Given the description of an element on the screen output the (x, y) to click on. 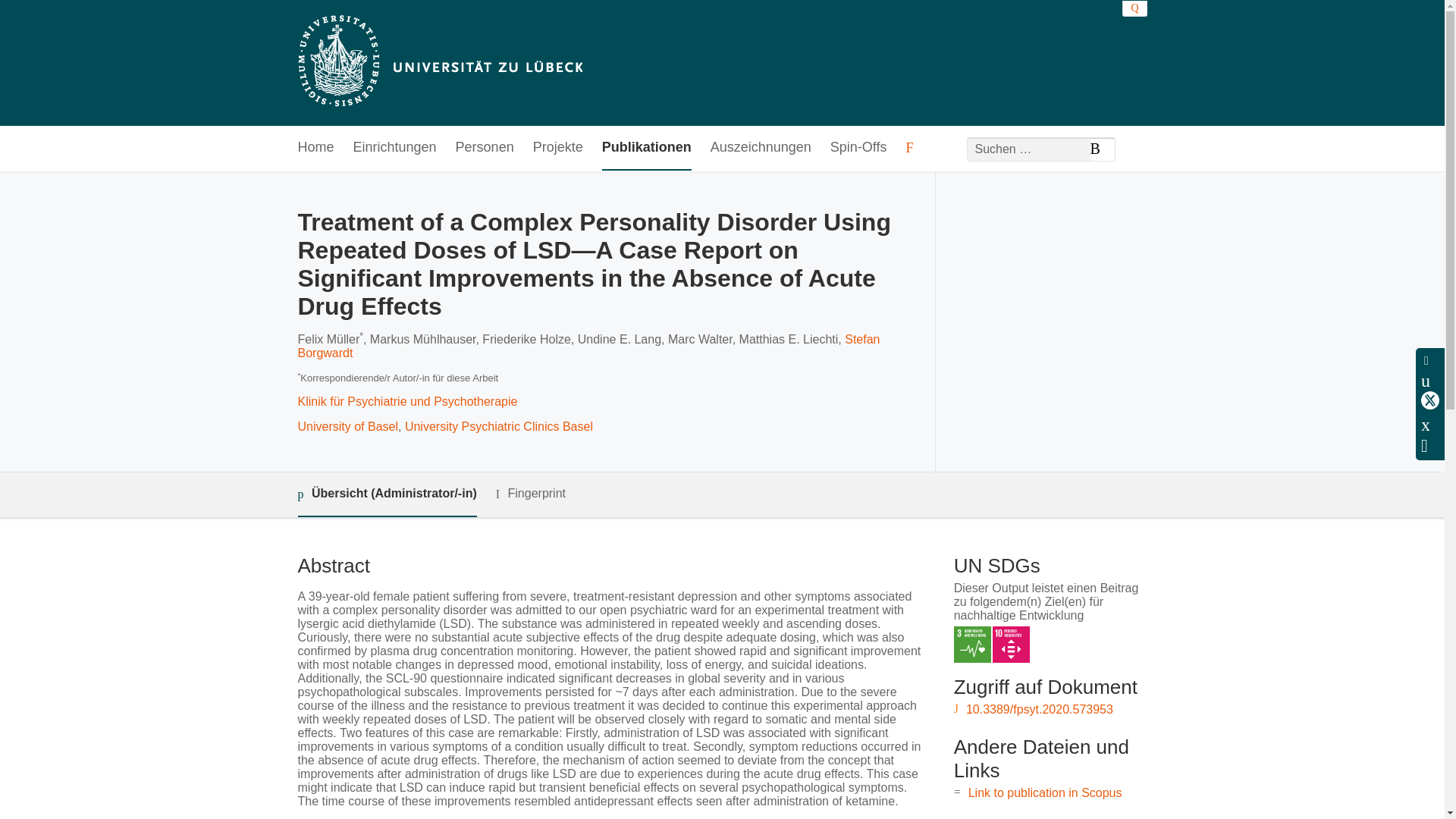
Fingerprint (531, 493)
Stefan Borgwardt (588, 345)
Projekte (557, 148)
University Psychiatric Clinics Basel (498, 426)
Spin-Offs (857, 148)
Publikationen (646, 148)
Home (315, 148)
University of Basel (347, 426)
Personen (484, 148)
Einrichtungen (394, 148)
Link to publication in Scopus (1045, 792)
Auszeichnungen (760, 148)
